Given the description of an element on the screen output the (x, y) to click on. 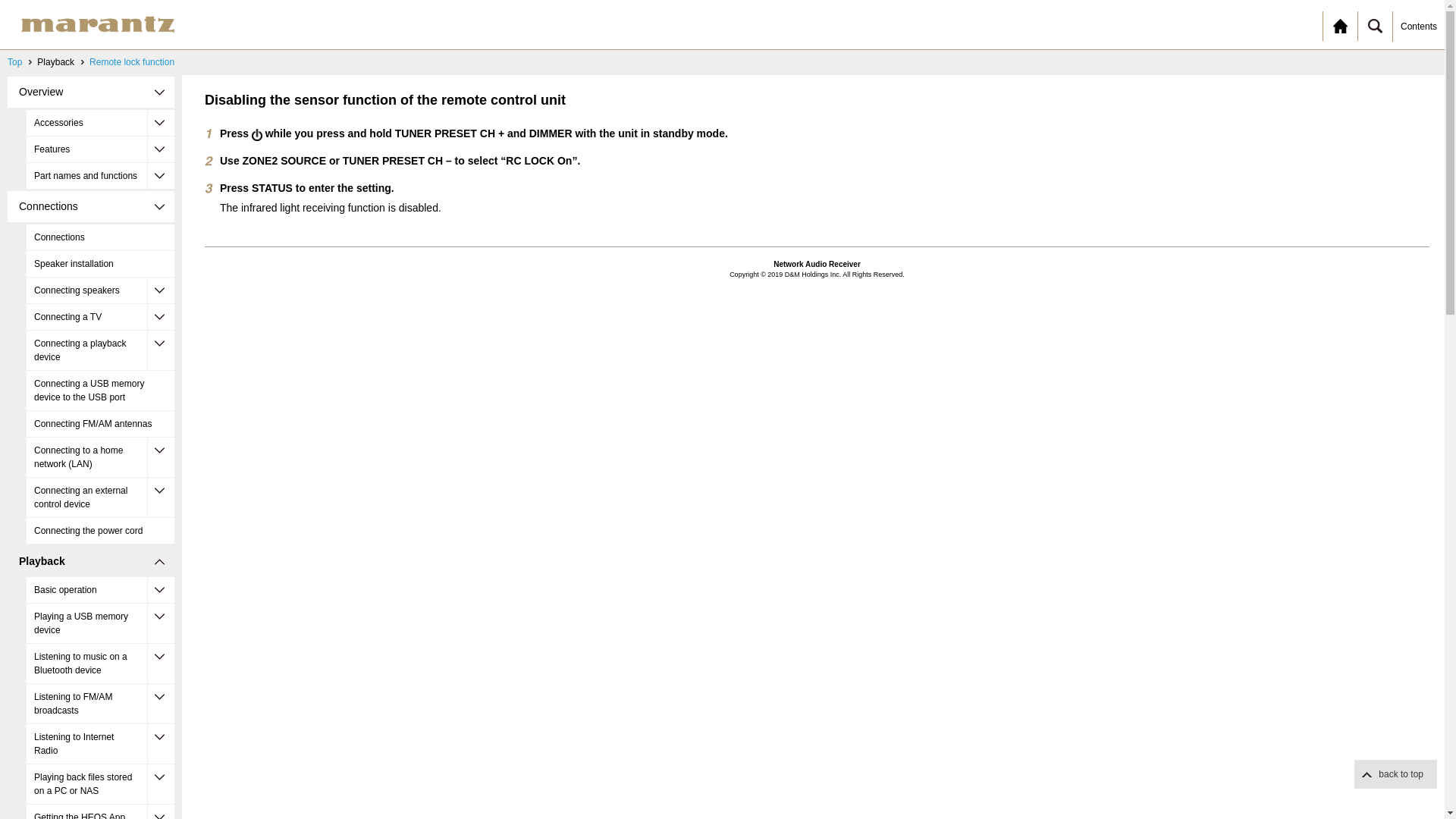
Accessories (100, 122)
Part names and functions (100, 175)
Features (100, 149)
